Given the description of an element on the screen output the (x, y) to click on. 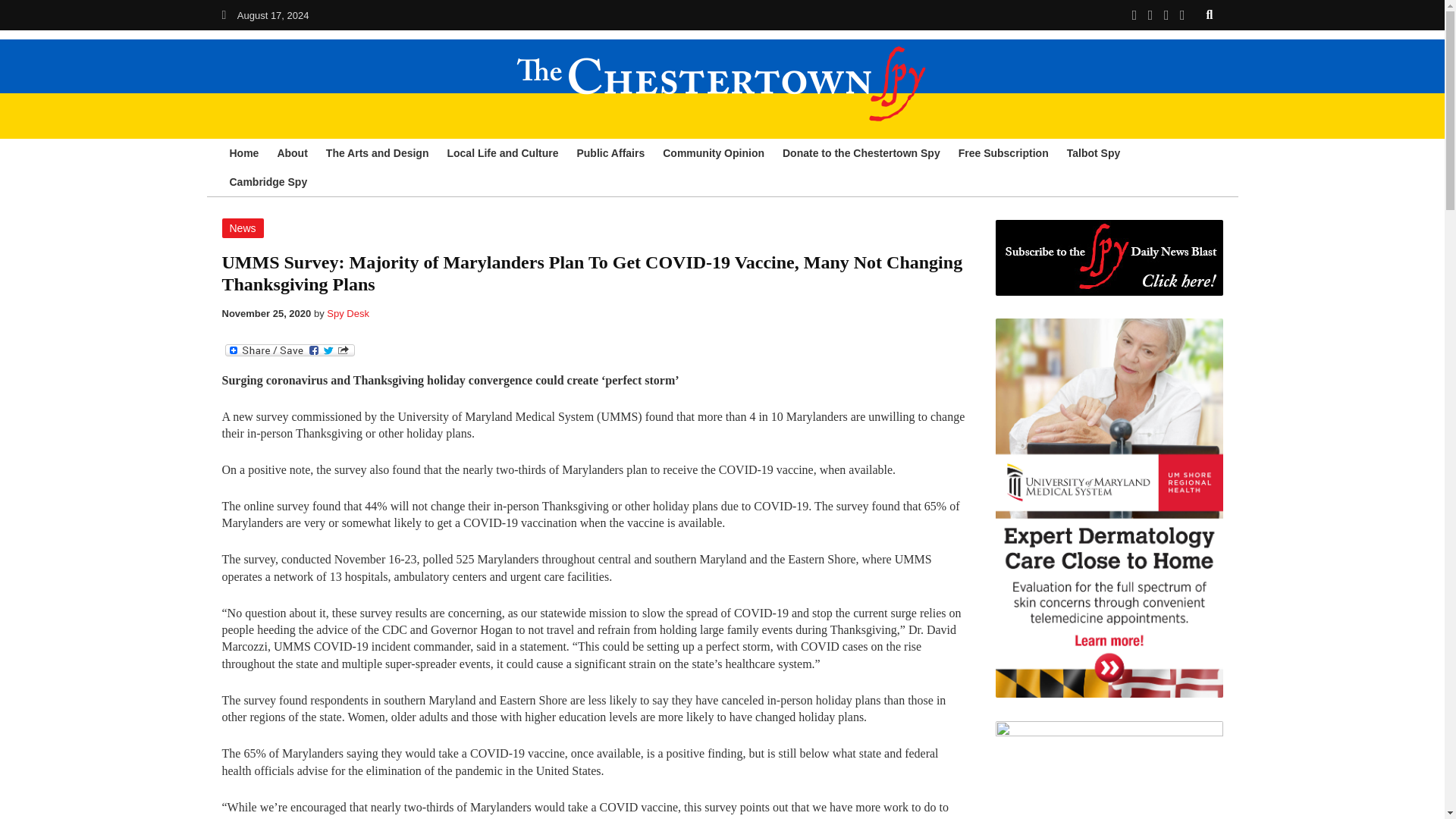
Search (1209, 14)
Search (1209, 14)
Search (1209, 14)
